Given the description of an element on the screen output the (x, y) to click on. 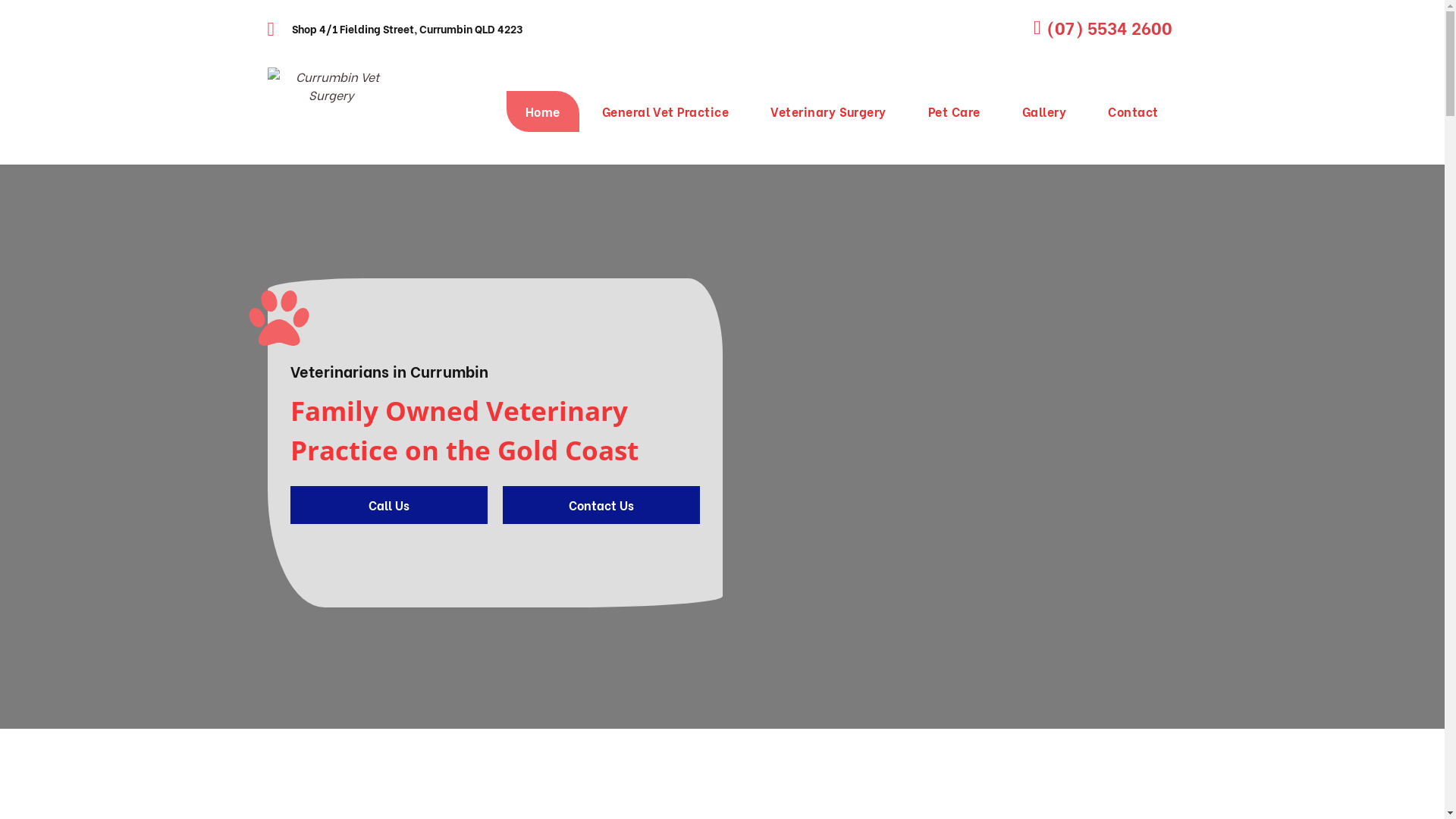
Gallery Element type: text (1044, 111)
Call Us Element type: text (387, 505)
Pet Care Element type: text (954, 111)
Shop 4/1 Fielding Street, Currumbin QLD 4223 Element type: text (406, 27)
Currumbin Vet Surgery Element type: hover (330, 110)
(07) 5534 2600 Element type: text (1089, 26)
Veterinary Surgery Element type: text (828, 111)
Contact Element type: text (1132, 111)
Contact Us Element type: text (600, 505)
General Vet Practice Element type: text (665, 111)
Home Element type: text (542, 111)
